Given the description of an element on the screen output the (x, y) to click on. 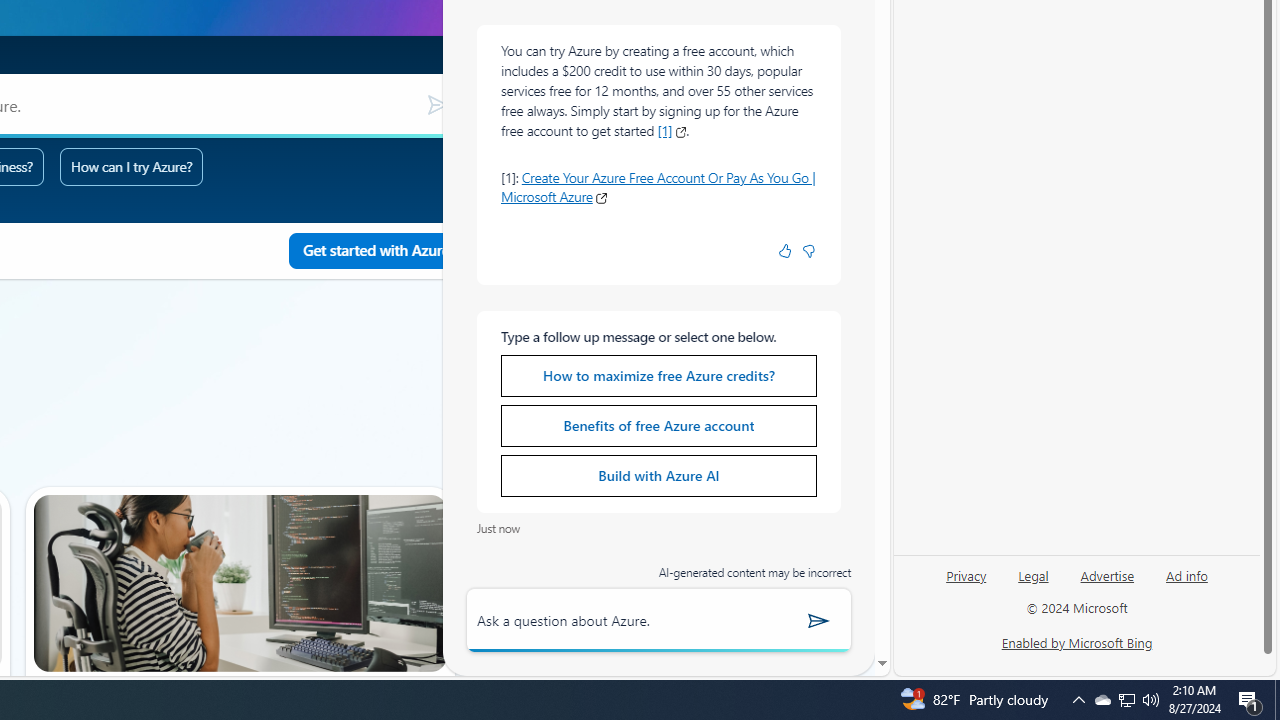
Message input box (626, 619)
Opens in a new window; external. (601, 197)
Benefits of free Azure account (658, 425)
Legal (1033, 574)
How can I try Azure? (131, 165)
Build with Azure AI (658, 475)
How can I try Azure? (131, 165)
How to maximize free Azure credits? (658, 375)
Negative feedback badge icon (808, 251)
Class: webchat__send-icon webchat--css-wvcpp-varv44 (819, 620)
Ad info (1187, 574)
Privacy (966, 583)
